Given the description of an element on the screen output the (x, y) to click on. 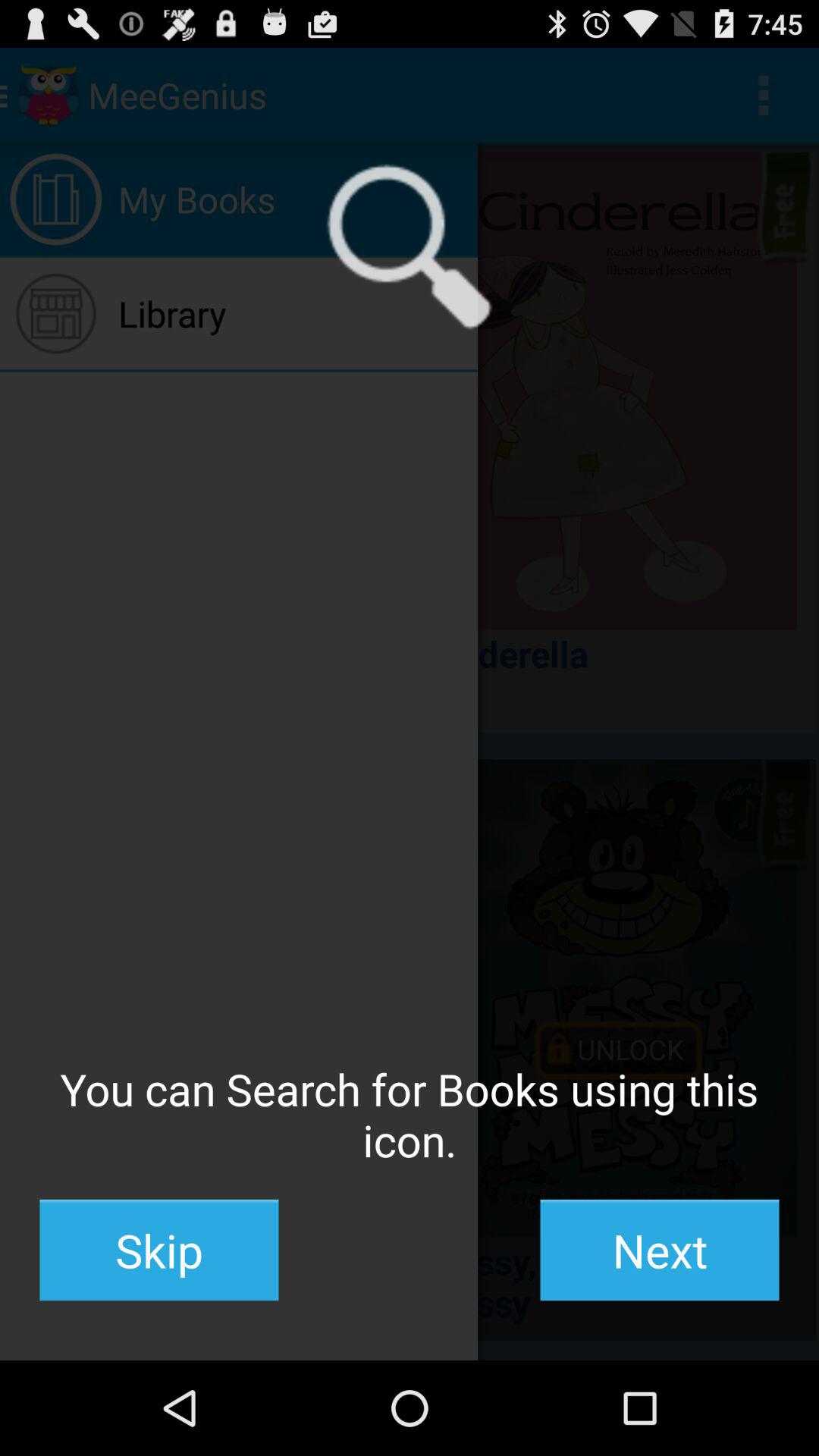
press the next item (659, 1249)
